Given the description of an element on the screen output the (x, y) to click on. 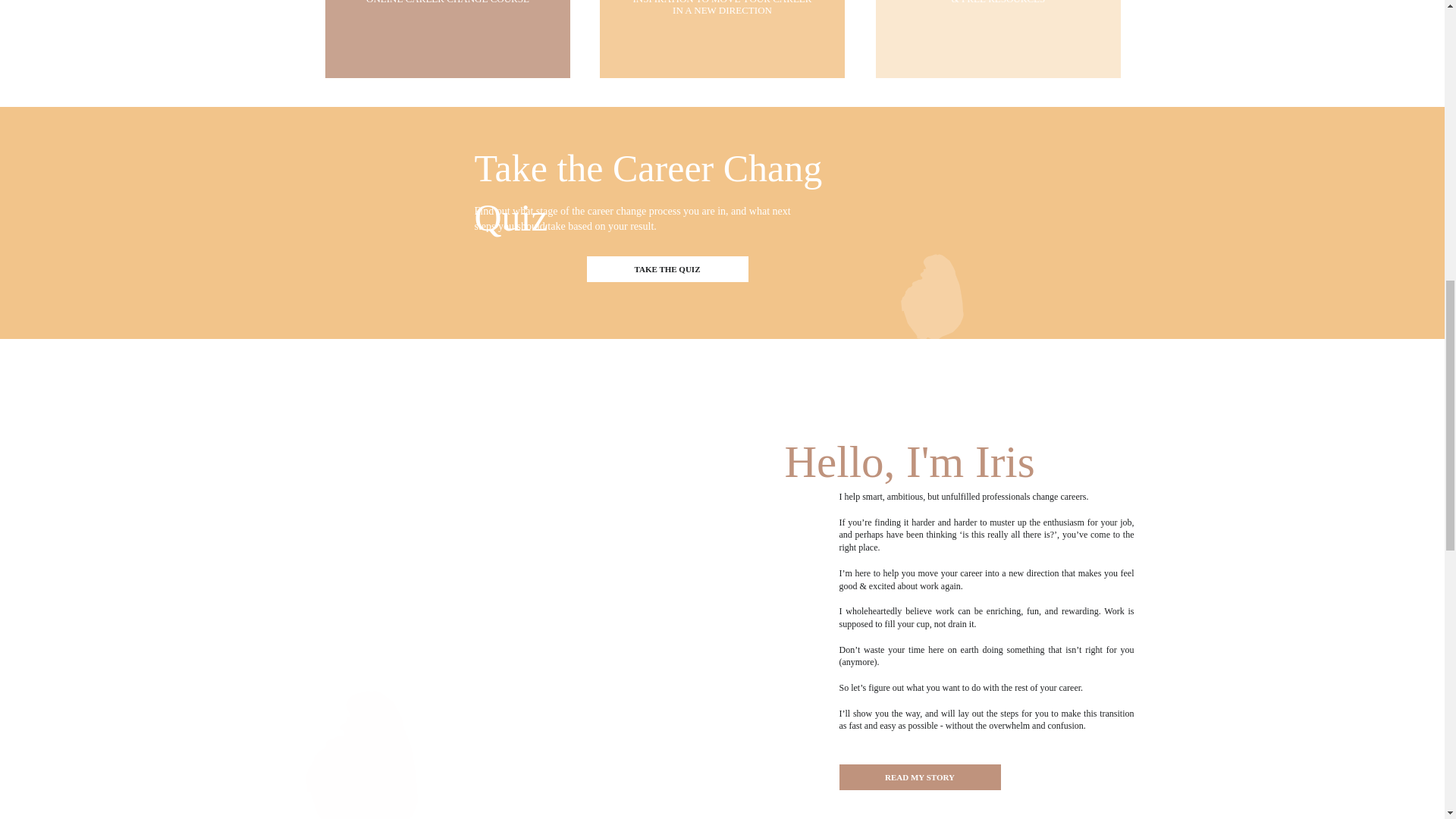
READ MY STORY (920, 777)
TAKE THE QUIZ (666, 269)
